Given the description of an element on the screen output the (x, y) to click on. 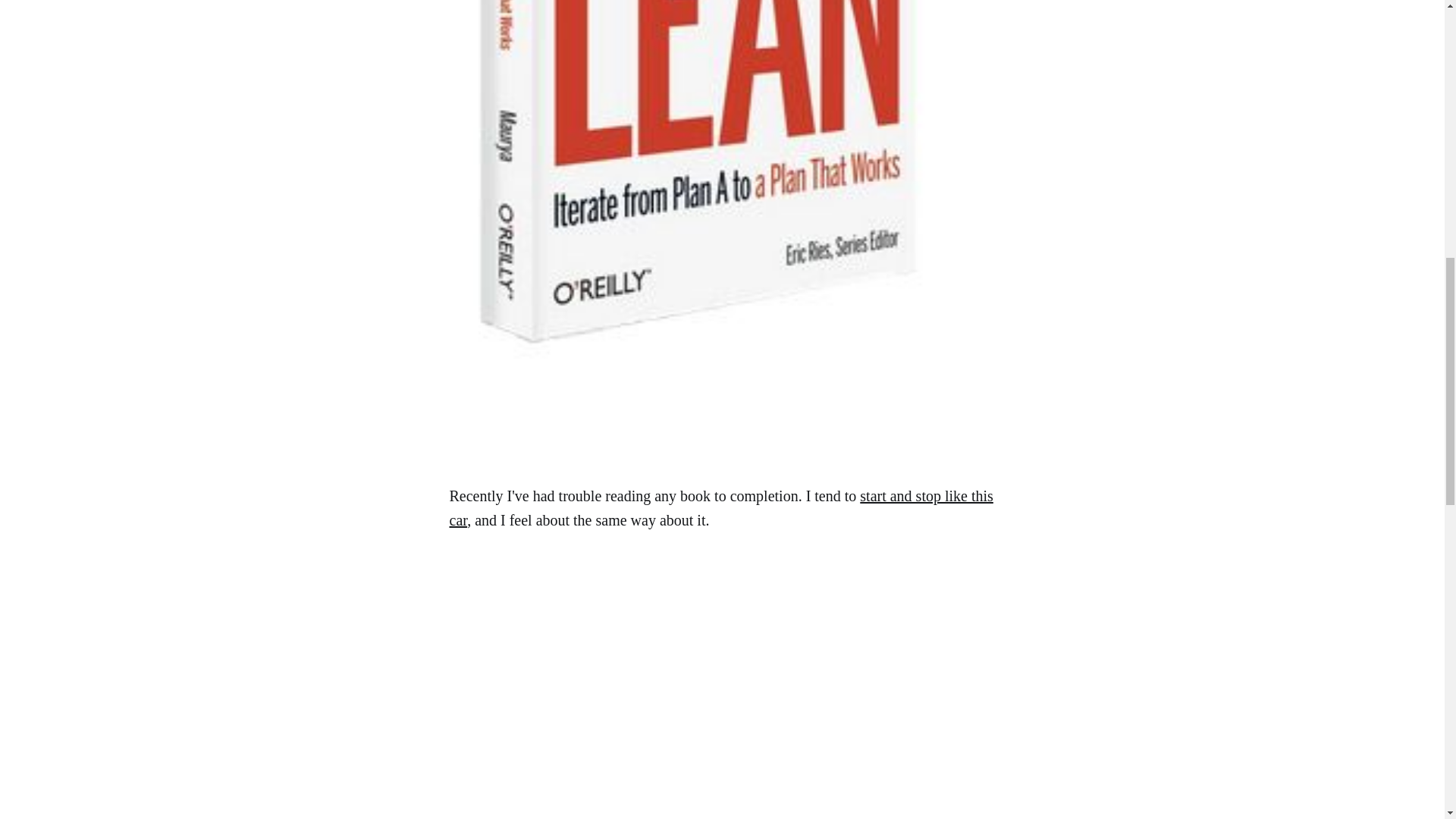
start and stop like this car (720, 507)
